Given the description of an element on the screen output the (x, y) to click on. 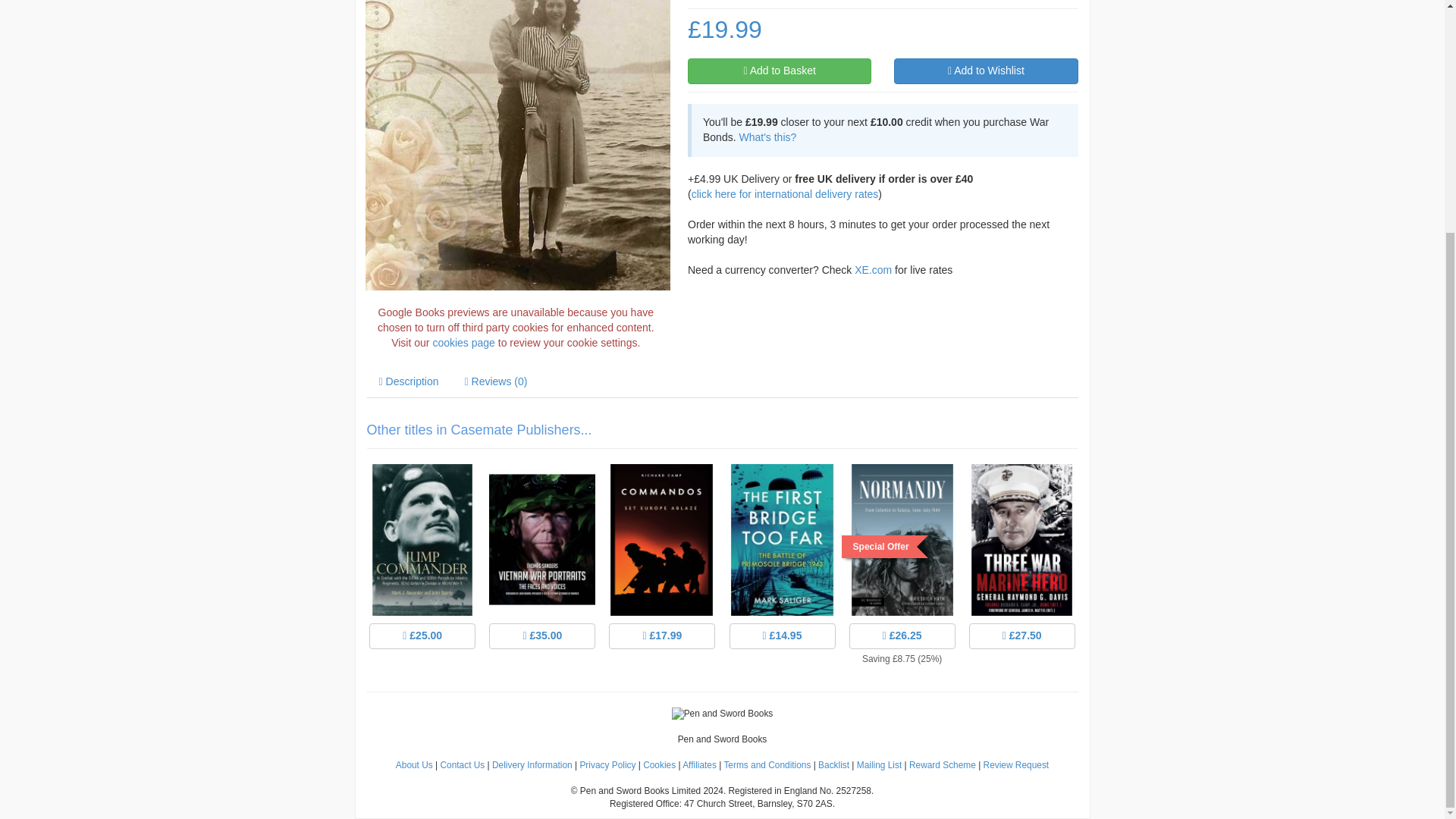
Three War Marine Hero (1021, 570)
Vietnam War Portraits (541, 570)
The Commandos: Set Europe Ablaze (662, 570)
Normandy (902, 570)
Jump Commander (421, 570)
The First Bridge Too Far (781, 570)
